Given the description of an element on the screen output the (x, y) to click on. 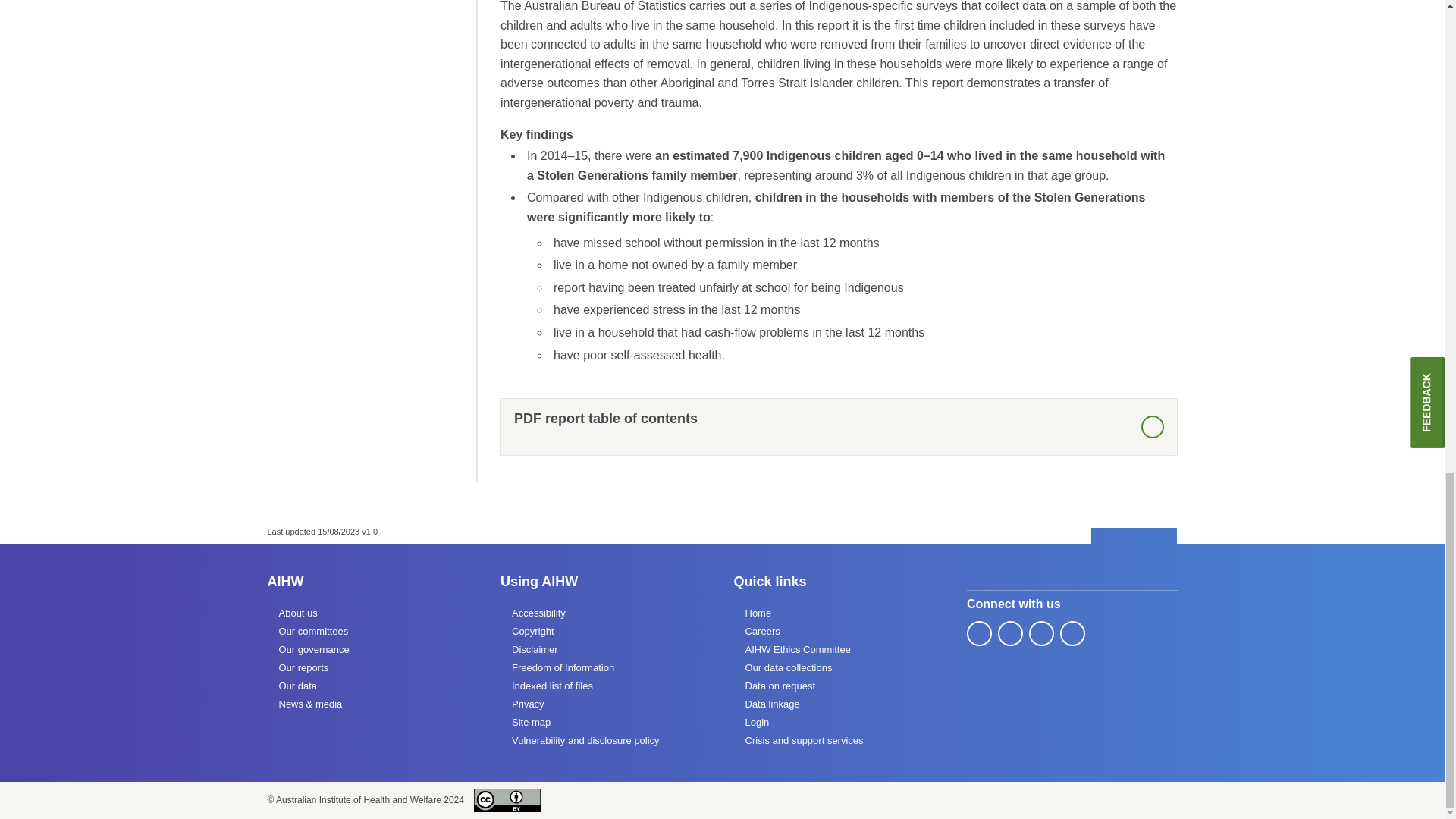
Back to top (1133, 537)
